Given the description of an element on the screen output the (x, y) to click on. 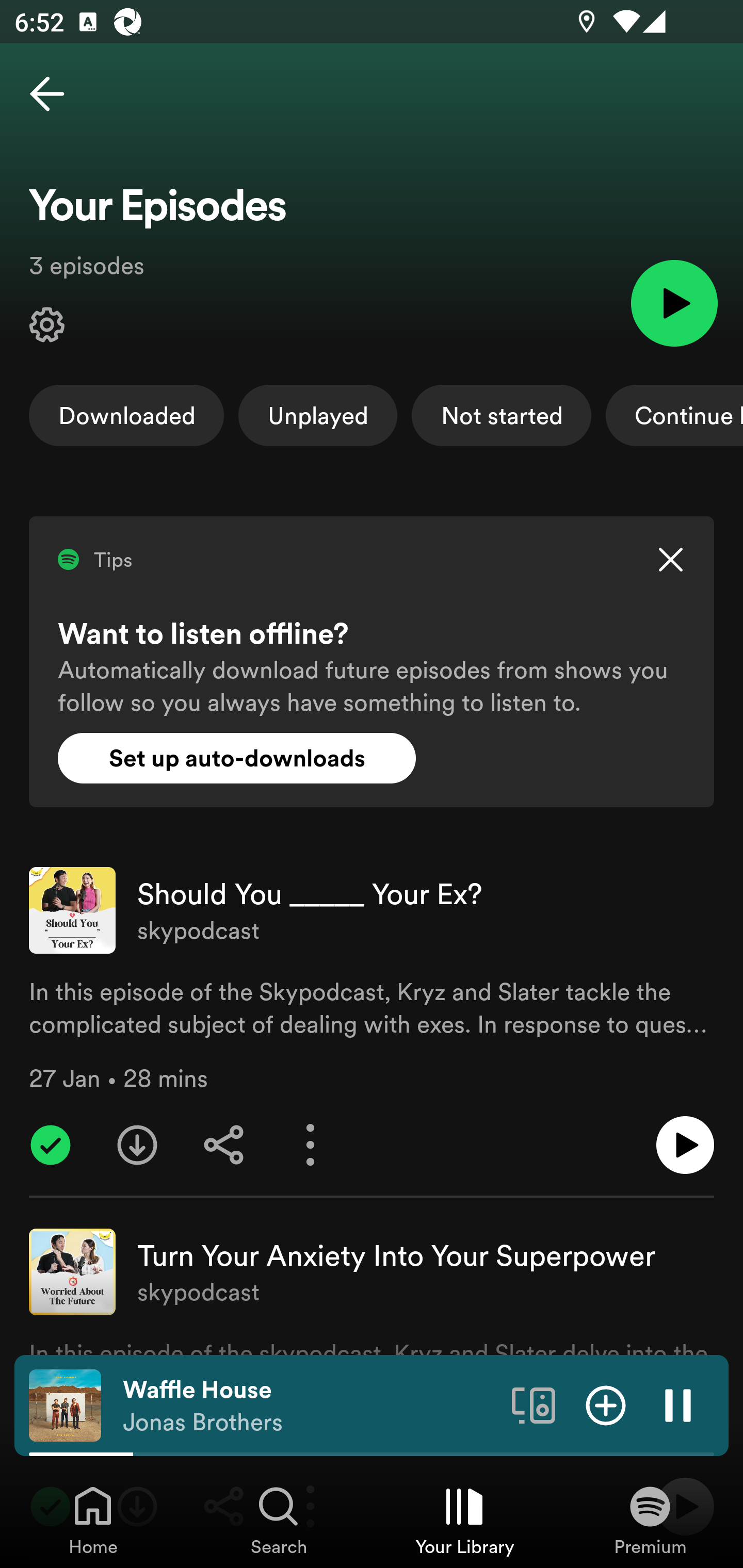
Back (46, 93)
Play (674, 302)
Your Episodes (46, 325)
Downloaded; show only downloaded episodes (125, 414)
Unplayed; show only unplayed episodes (317, 414)
Not started; show only not started episodes (501, 414)
Continue listening; show only episodes in progress (674, 414)
Dismiss (670, 559)
Set up auto-downloads (236, 758)
Should You _____ Your Ex? added to Your Episodes (50, 1145)
Download episode: Should You _____ Your Ex? (136, 1145)
Share (223, 1145)
More options for episode Should You _____ Your Ex? (310, 1145)
Play episode: Should You _____ Your Ex? (684, 1145)
Waffle House Jonas Brothers (309, 1405)
The cover art of the currently playing track (64, 1404)
Connect to a device. Opens the devices menu (533, 1404)
Add item (605, 1404)
Pause (677, 1404)
Home, Tab 1 of 4 Home Home (92, 1519)
Search, Tab 2 of 4 Search Search (278, 1519)
Your Library, Tab 3 of 4 Your Library Your Library (464, 1519)
Premium, Tab 4 of 4 Premium Premium (650, 1519)
